Given the description of an element on the screen output the (x, y) to click on. 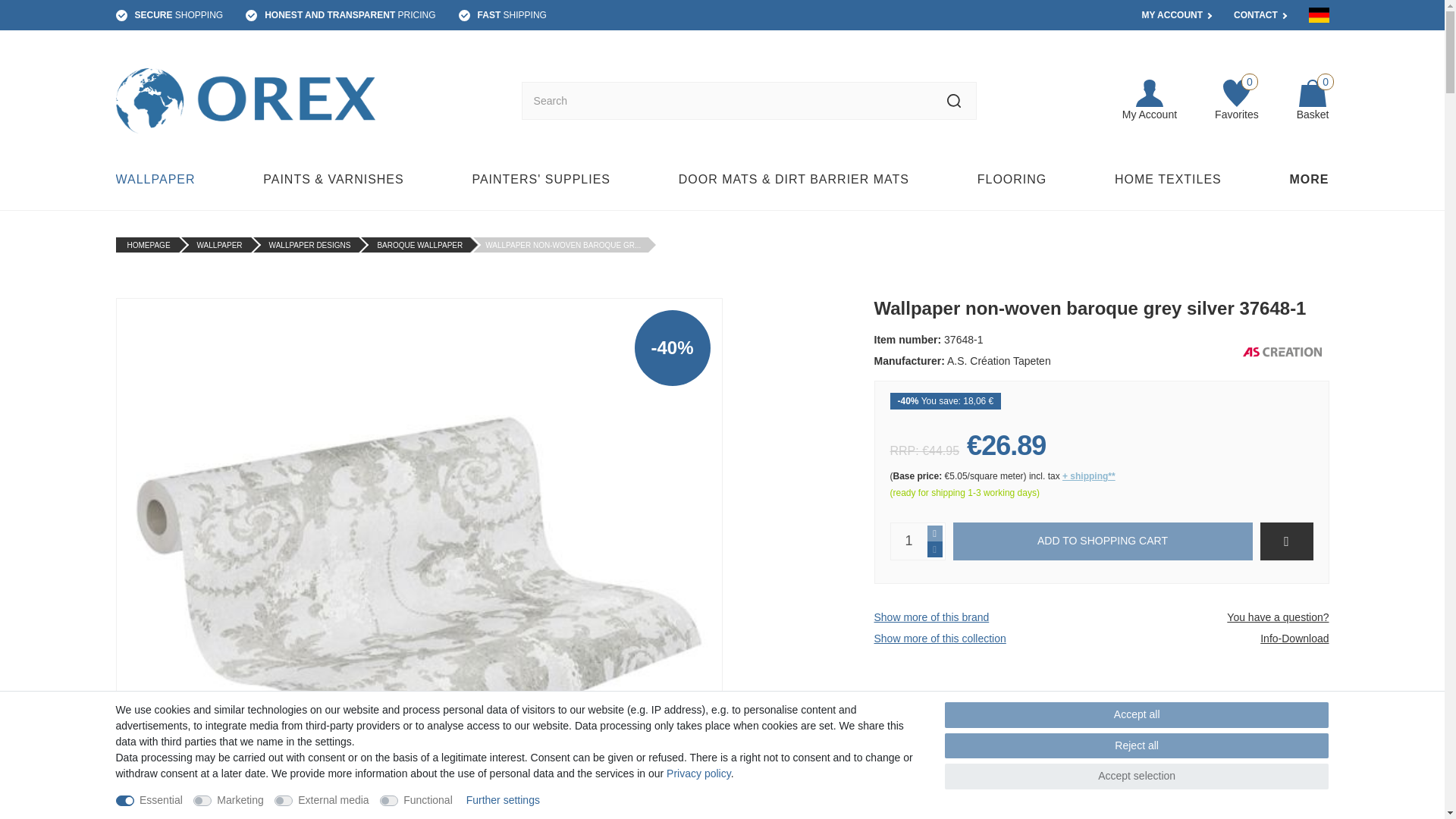
HOMEPAGE (149, 244)
CONTACT (1255, 15)
WALLPAPER DESIGNS (309, 244)
BAROQUE WALLPAPER (420, 244)
1 (907, 541)
PAINTERS' SUPPLIES (541, 179)
WALLPAPER (219, 244)
Maximum order quantity:  (934, 532)
WALLPAPER (1236, 100)
My Account (159, 179)
Click to enlarge (1149, 100)
MY ACCOUNT (1012, 179)
HOME TEXTILES (1171, 15)
